Given the description of an element on the screen output the (x, y) to click on. 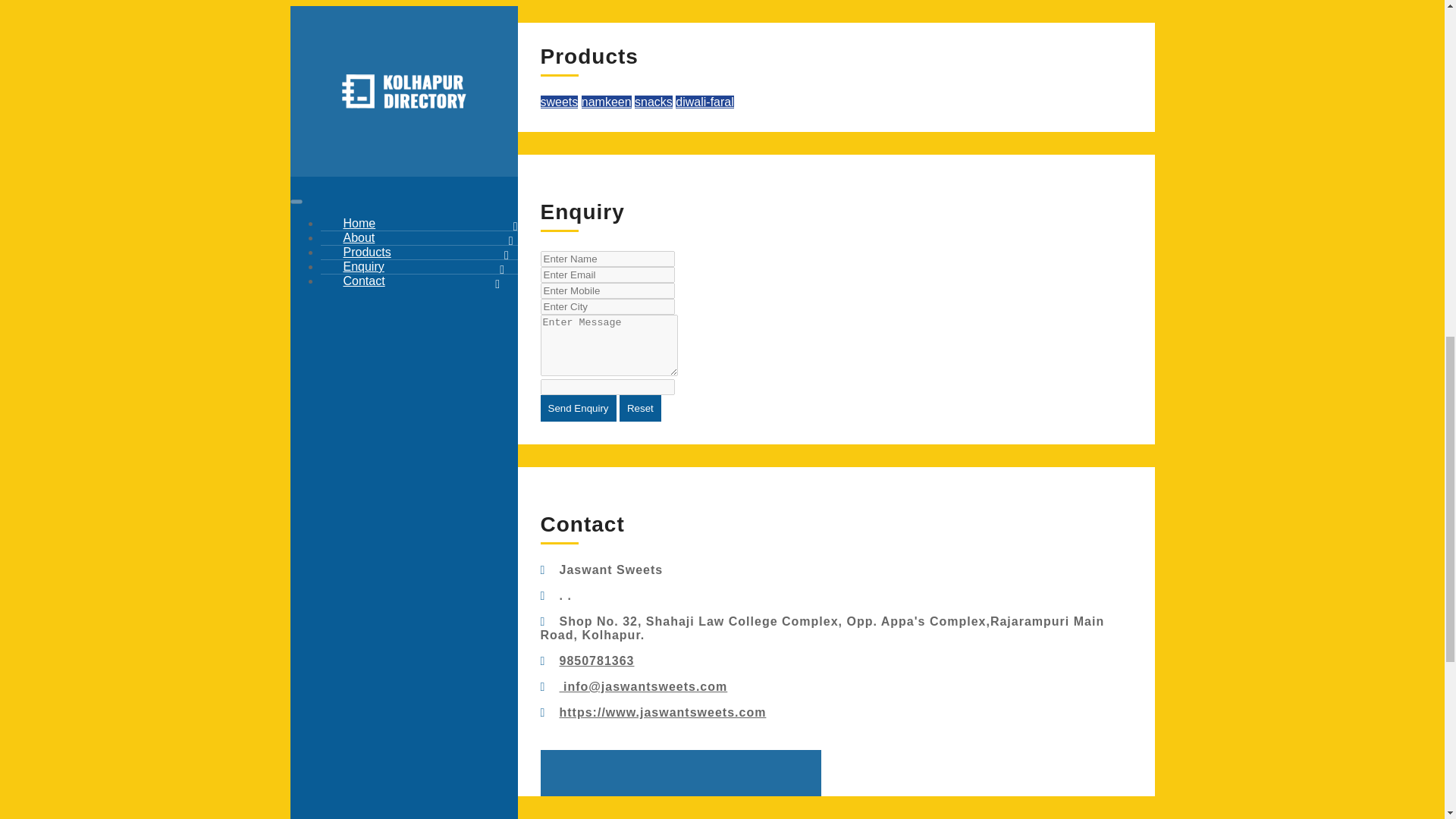
9850781363 (596, 660)
Reset (640, 407)
namkeen (605, 101)
diwali-faral (704, 101)
sweets (559, 101)
Send Enquiry (577, 407)
snacks (653, 101)
